Given the description of an element on the screen output the (x, y) to click on. 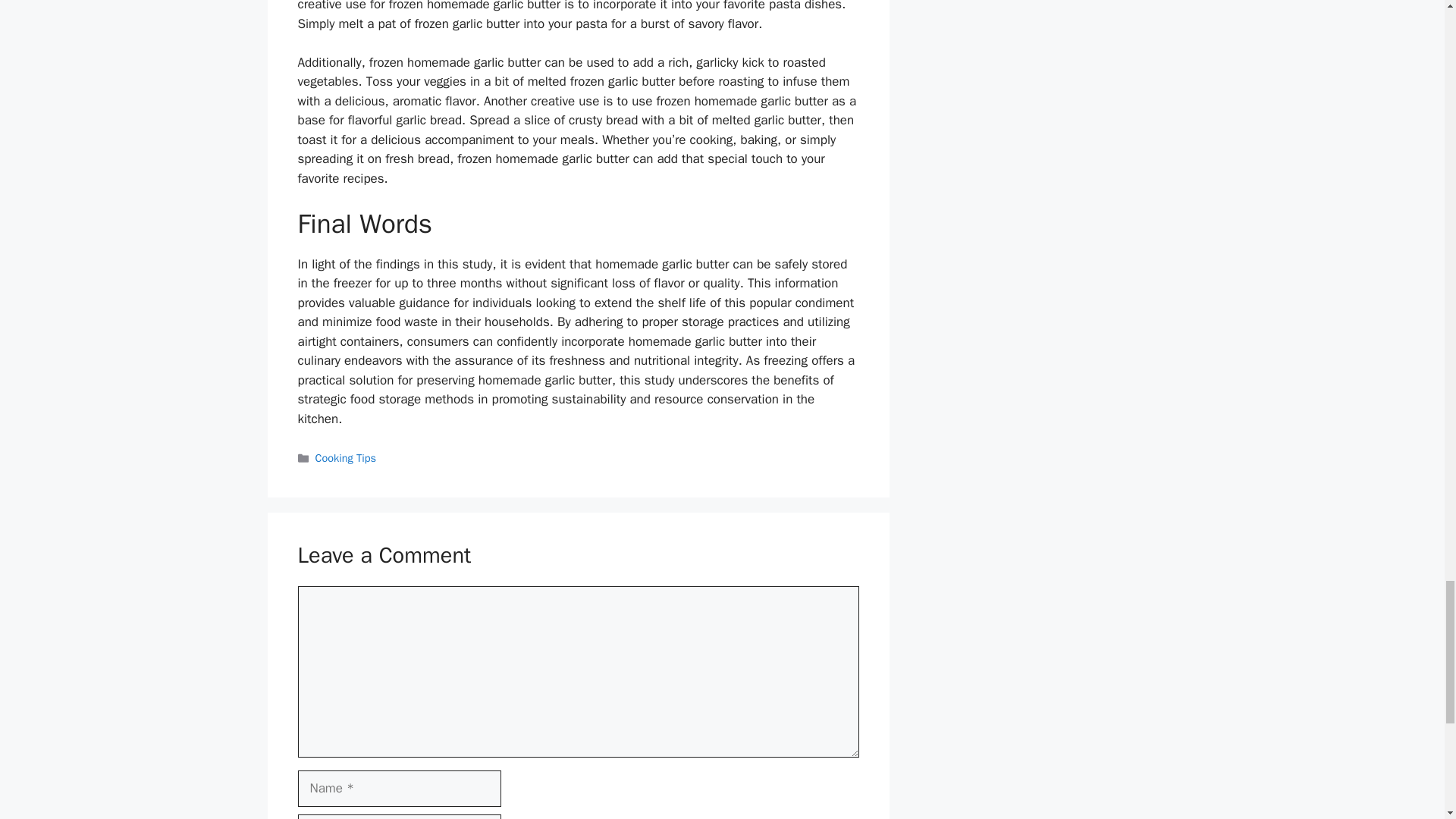
Cooking Tips (345, 458)
